Given the description of an element on the screen output the (x, y) to click on. 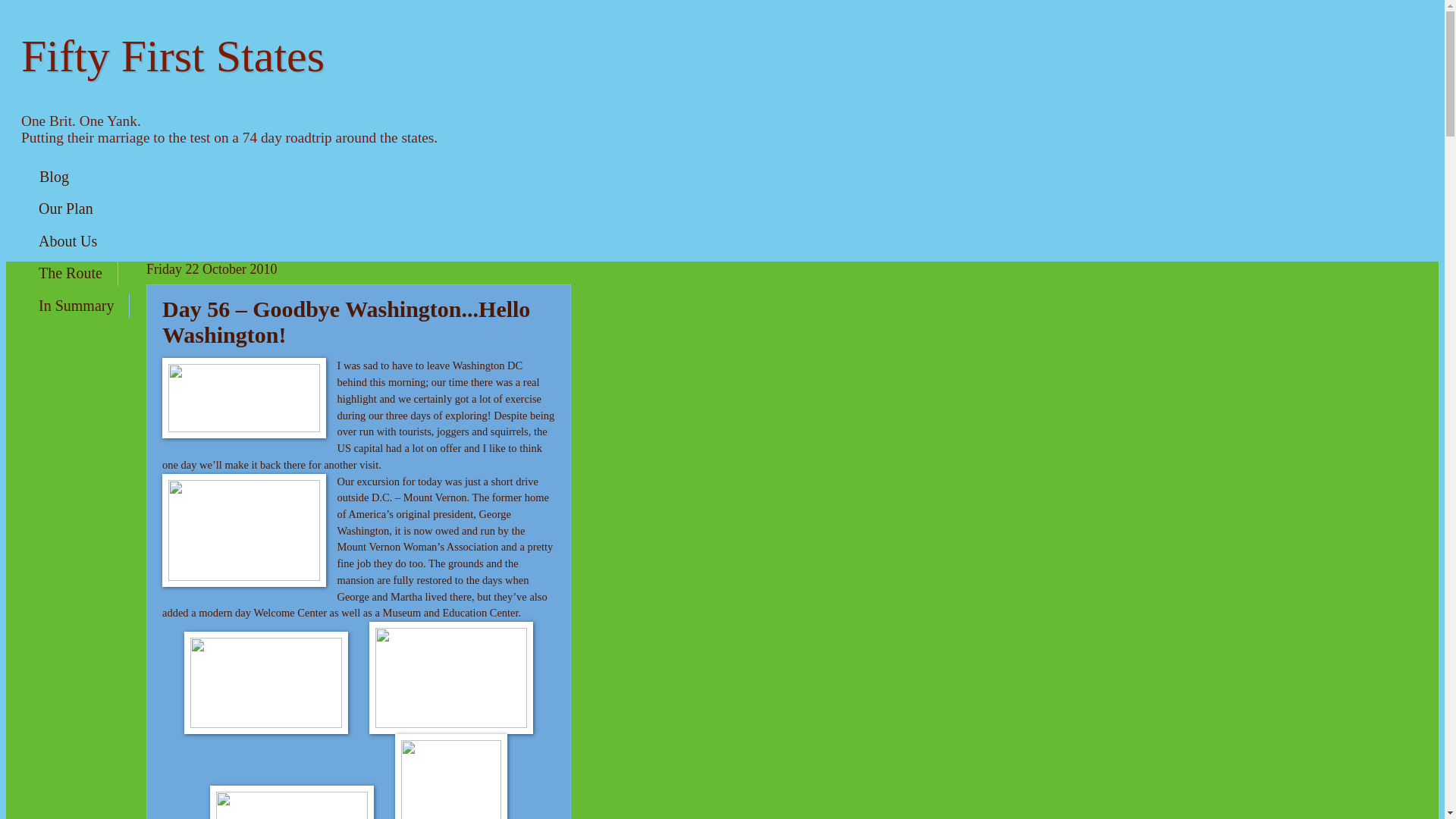
About Us (68, 241)
In Summary (76, 305)
Fifty First States (172, 56)
The Route (70, 273)
Blog (53, 176)
Our Plan (66, 208)
